Given the description of an element on the screen output the (x, y) to click on. 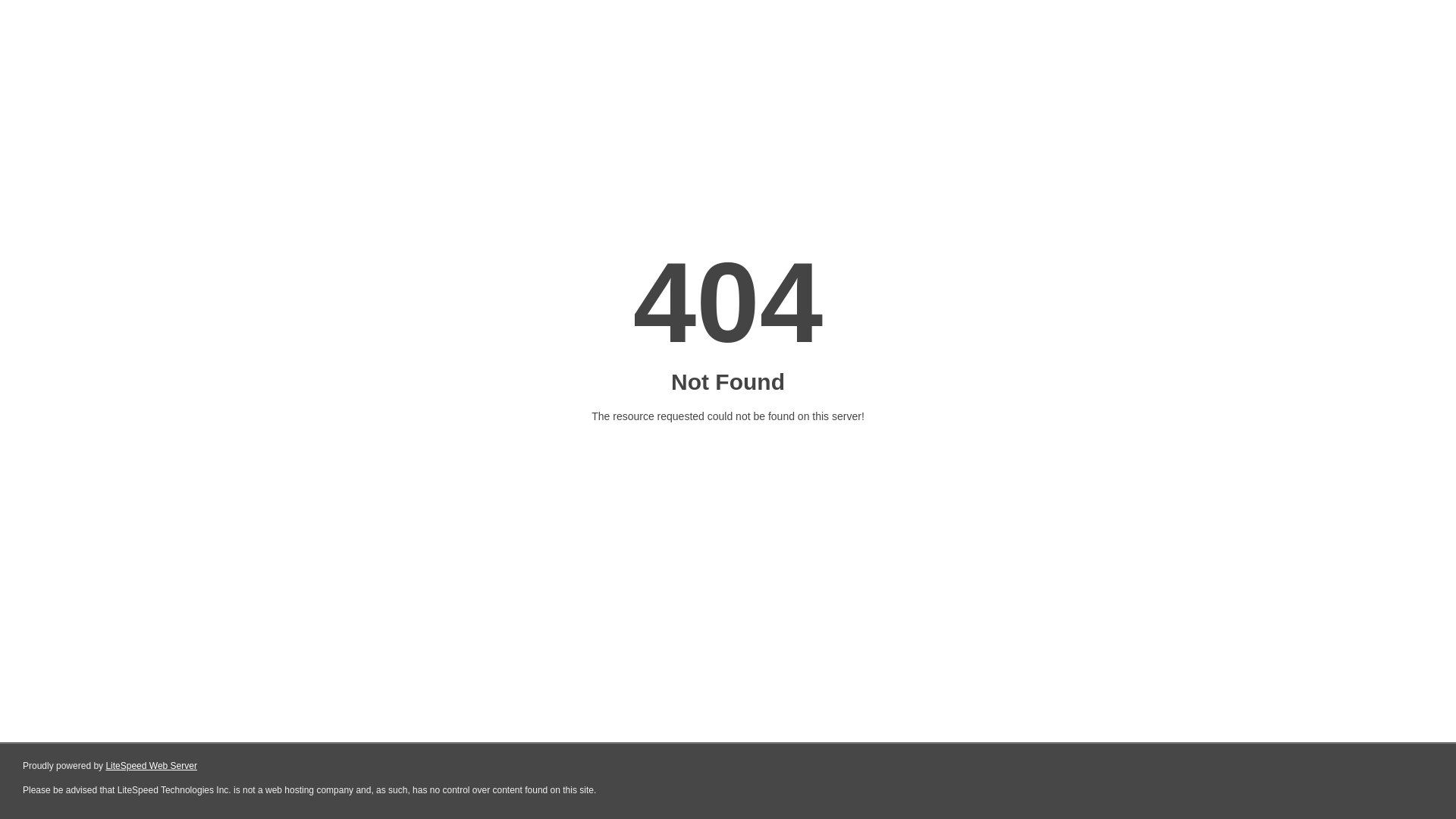
LiteSpeed Web Server Element type: text (151, 765)
